Given the description of an element on the screen output the (x, y) to click on. 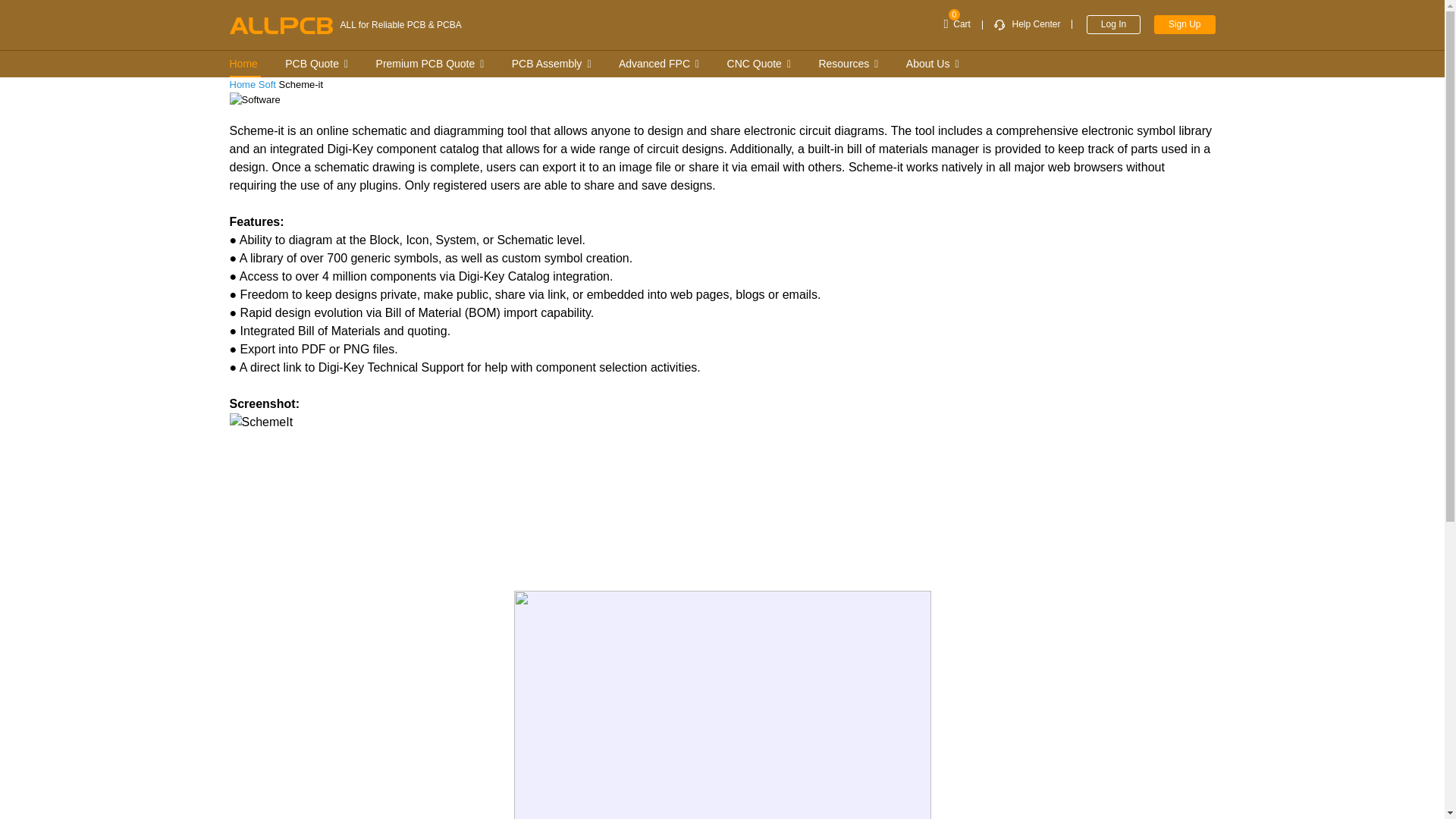
Advanced FPC (659, 63)
PCB Quote (315, 63)
Home (249, 63)
PCB Assembly (551, 63)
SchemeIt (418, 492)
Premium PCB Quote (429, 63)
Sign Up (1184, 24)
Log In (1113, 24)
